Given the description of an element on the screen output the (x, y) to click on. 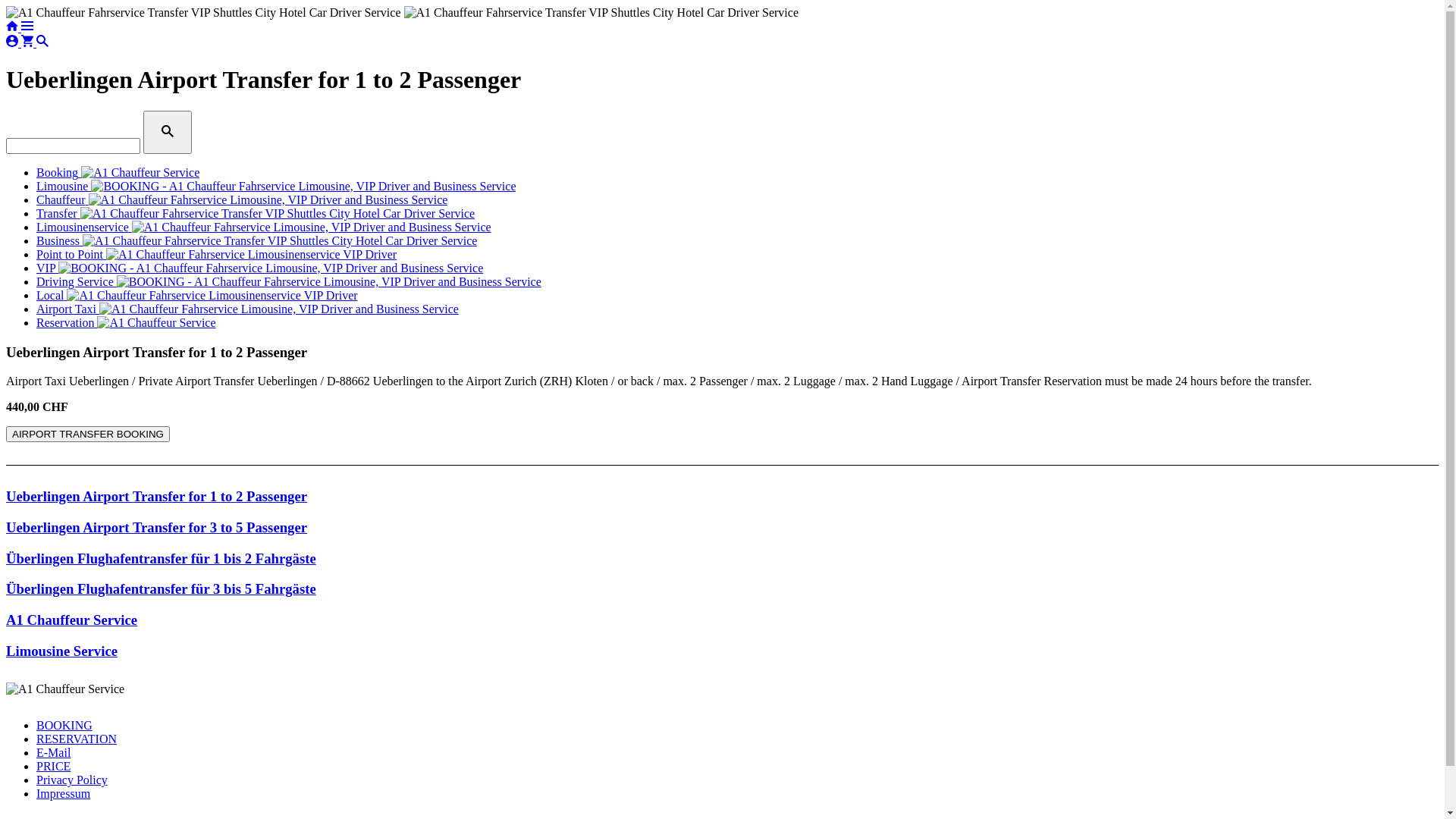
E-Mail Element type: text (53, 752)
Booking Element type: text (117, 172)
VIP Element type: text (259, 267)
Point to Point Element type: text (216, 253)
BOOKING Element type: text (64, 724)
Privacy Policy Element type: text (71, 779)
RESERVATION Element type: text (76, 738)
Limousine Service Element type: text (61, 650)
Transfer Element type: text (255, 213)
Ueberlingen Airport Transfer for 1 to 2 Passenger Element type: text (156, 496)
A1 Chauffeur Service Element type: text (71, 619)
Ueberlingen Airport Transfer for 3 to 5 Passenger Element type: text (156, 527)
Airport Taxi Element type: text (247, 308)
AIRPORT TRANSFER BOOKING Element type: text (87, 434)
PRICE Element type: text (53, 765)
Limousinenservice Element type: text (263, 226)
Local Element type: text (196, 294)
Reservation Element type: text (126, 322)
Chauffeur Element type: text (241, 199)
Driving Service Element type: text (288, 281)
Business Element type: text (256, 240)
Limousine Element type: text (275, 185)
Impressum Element type: text (63, 793)
